Given the description of an element on the screen output the (x, y) to click on. 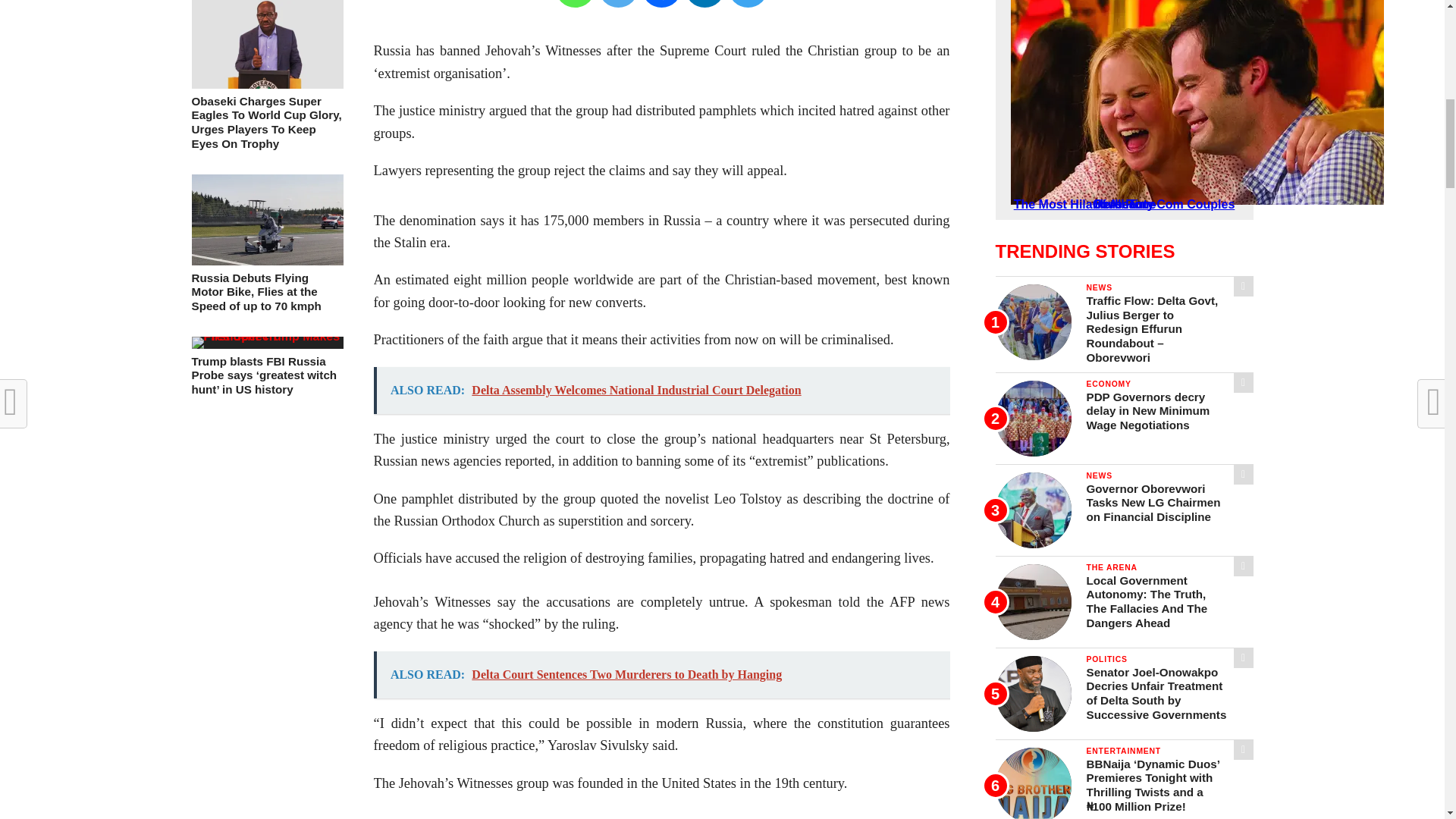
Twitter (618, 3)
Whatsapp (574, 3)
Linkedin (704, 3)
Facebook (661, 3)
Telegram (748, 3)
